Given the description of an element on the screen output the (x, y) to click on. 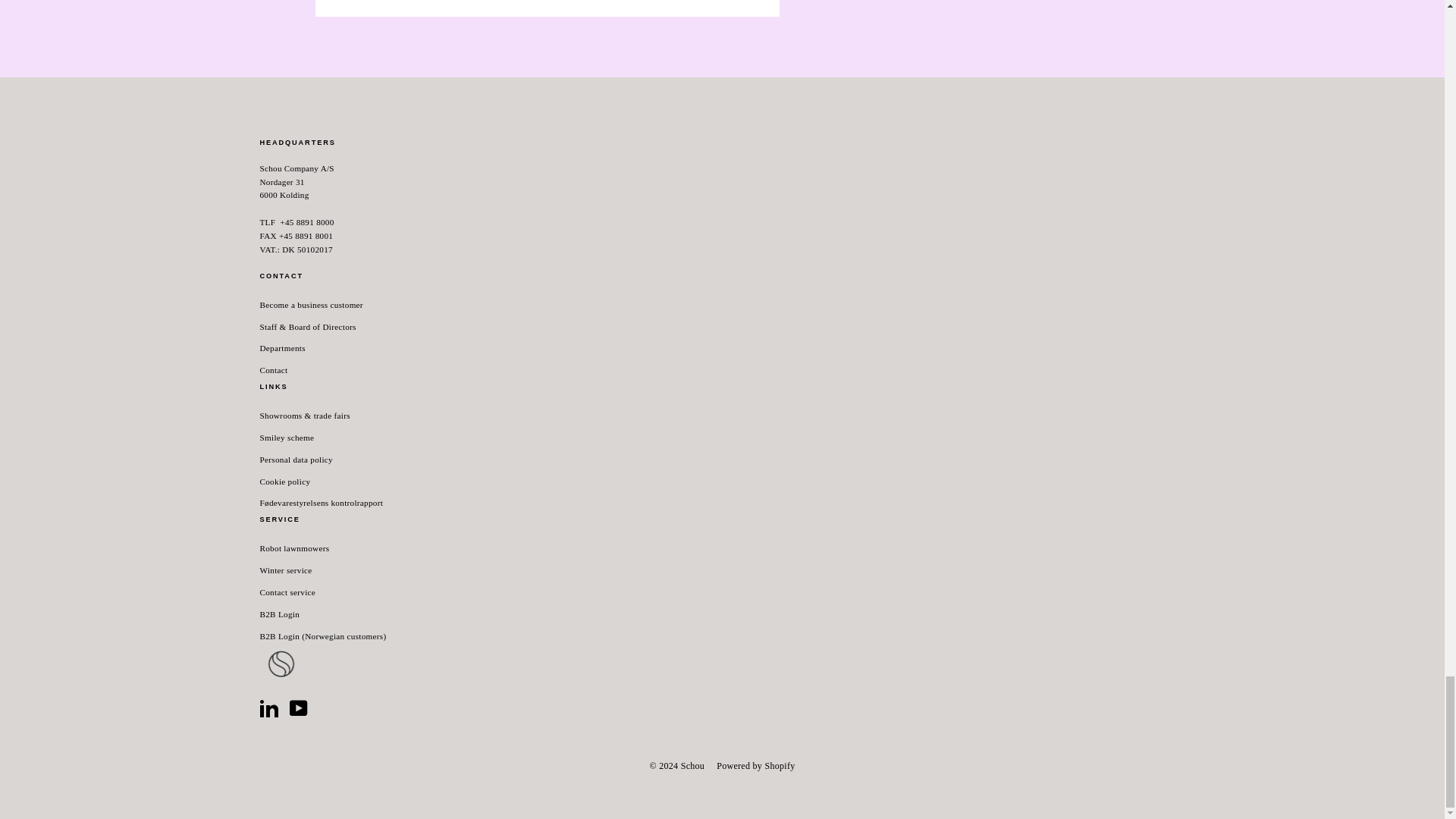
Schou on LinkedIn (268, 708)
Schou on YouTube (298, 708)
